Given the description of an element on the screen output the (x, y) to click on. 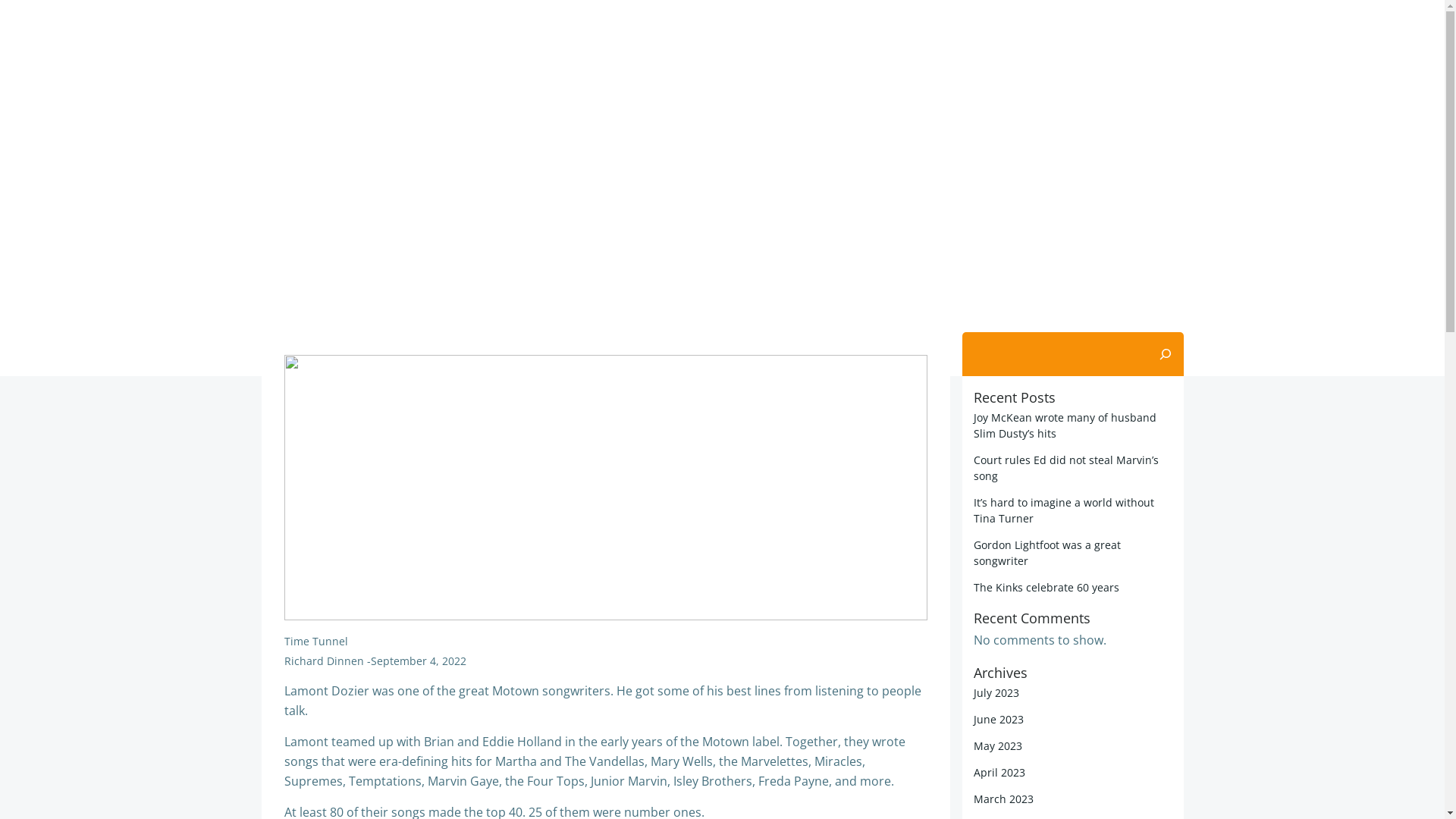
May 2023 Element type: text (997, 745)
Richard Dinnen Element type: text (323, 660)
Gordon Lightfoot was a great songwriter Element type: text (1046, 552)
Time Tunnel Element type: text (315, 641)
The Kinks celebrate 60 years Element type: text (1046, 587)
July 2023 Element type: text (996, 692)
March 2023 Element type: text (1003, 798)
September 4, 2022 Element type: text (417, 660)
April 2023 Element type: text (999, 772)
June 2023 Element type: text (998, 719)
